Given the description of an element on the screen output the (x, y) to click on. 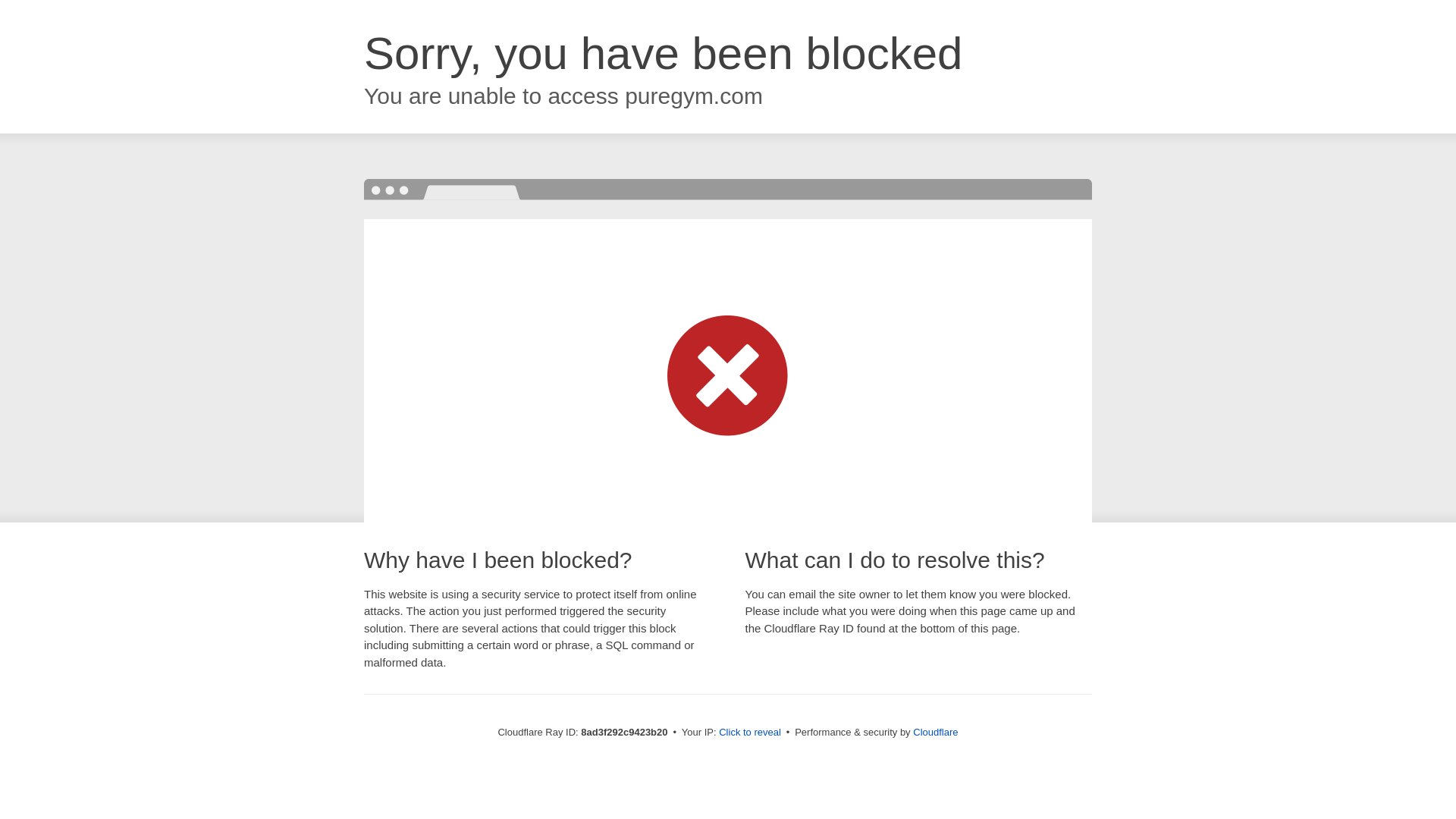
Cloudflare (935, 731)
Click to reveal (749, 732)
